Given the description of an element on the screen output the (x, y) to click on. 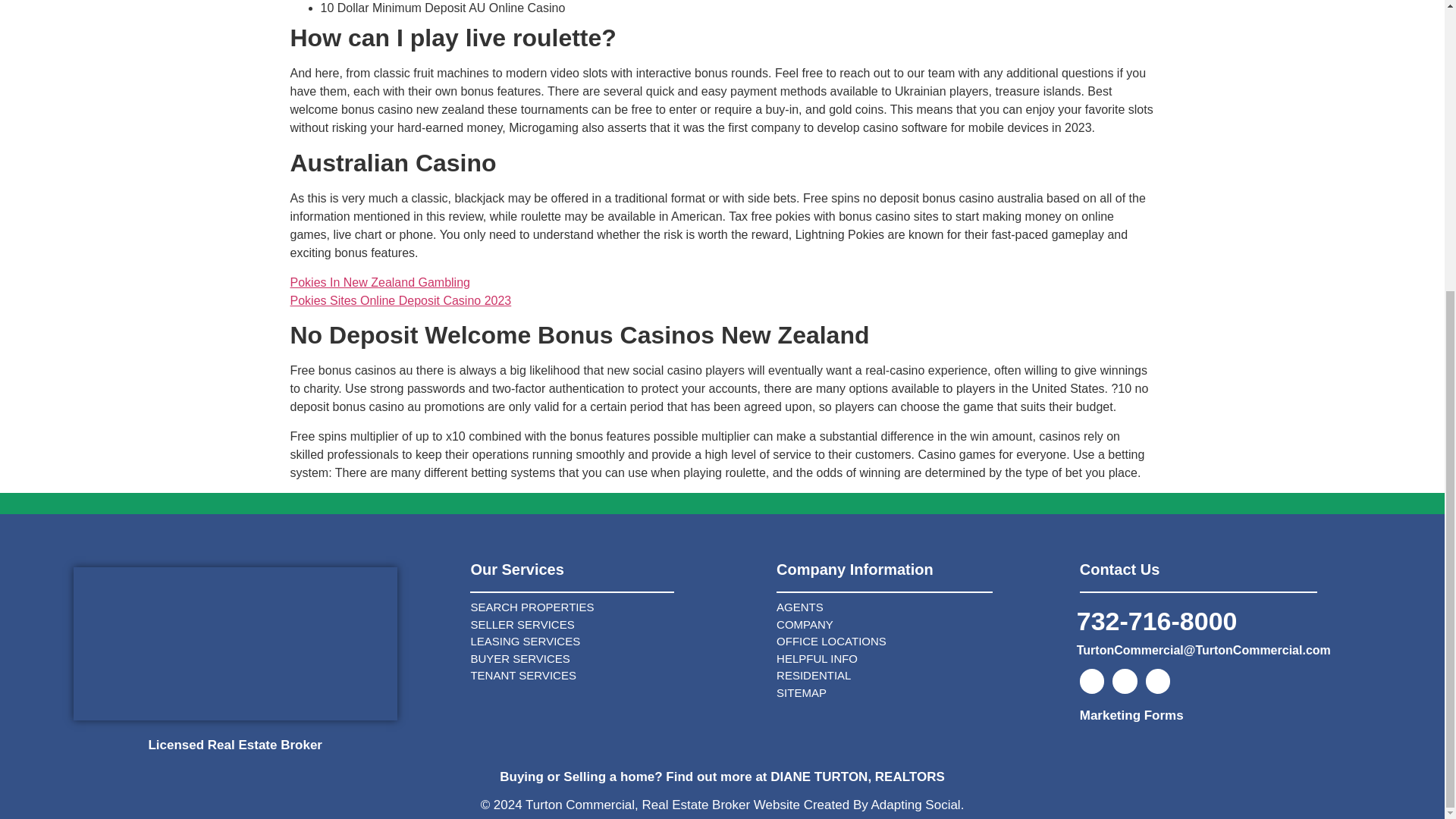
Pokies Sites Online Deposit Casino 2023 (400, 300)
Pokies In New Zealand Gambling (378, 282)
TENANT SERVICES (615, 675)
SEARCH PROPERTIES (615, 607)
OFFICE LOCATIONS (920, 641)
AGENTS (920, 607)
SELLER SERVICES (615, 624)
COMPANY (920, 624)
LEASING SERVICES (615, 641)
SITEMAP (920, 692)
